Given the description of an element on the screen output the (x, y) to click on. 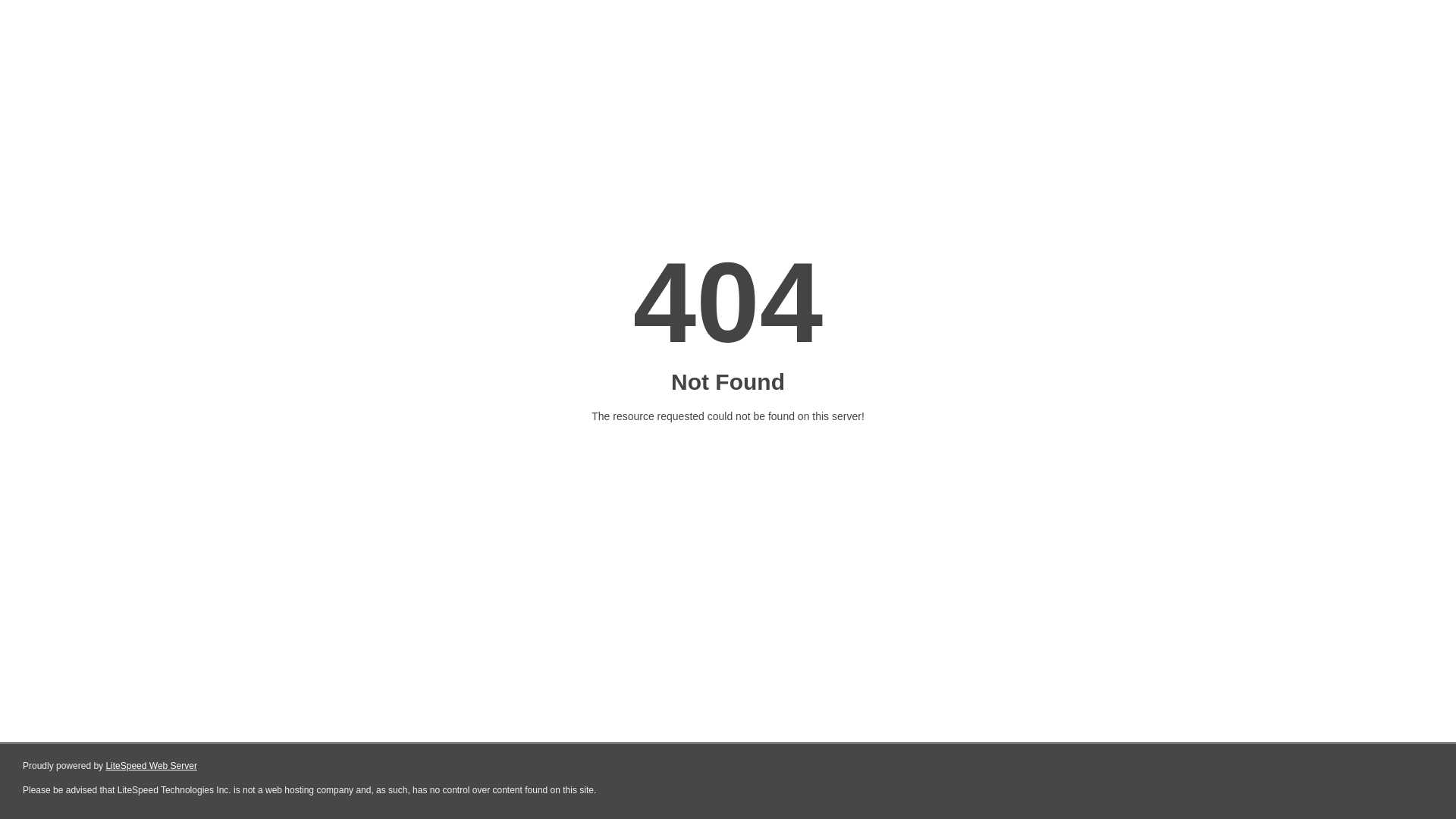
LiteSpeed Web Server Element type: text (151, 765)
